Given the description of an element on the screen output the (x, y) to click on. 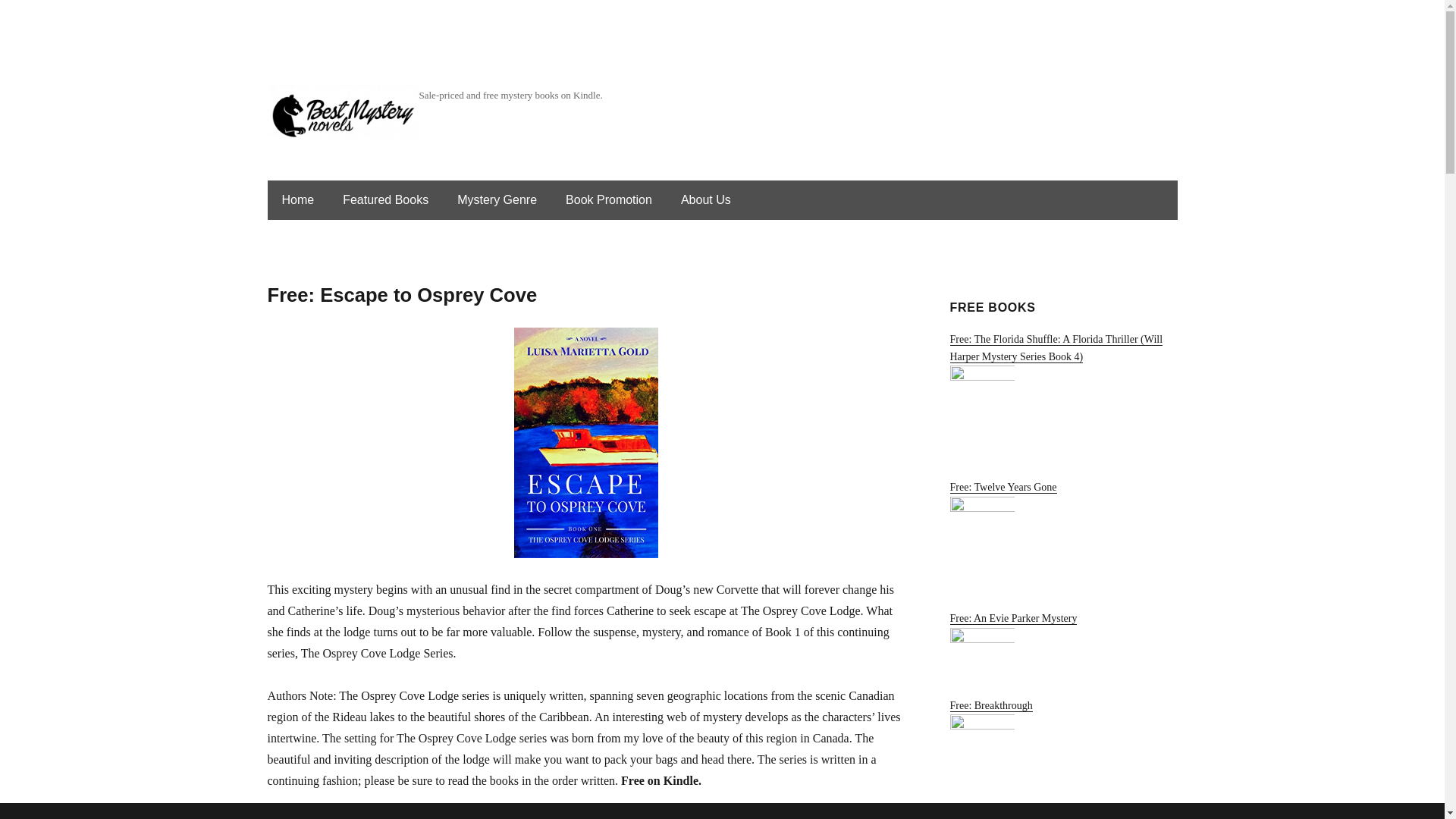
Featured Books (385, 200)
Free: Twelve Years Gone (1062, 536)
Free: An Evie Parker Mystery (1062, 646)
About Us (705, 200)
Home (297, 200)
Book Promotion (608, 200)
Free: Breakthrough (1062, 752)
Mystery Genre (496, 200)
